Given the description of an element on the screen output the (x, y) to click on. 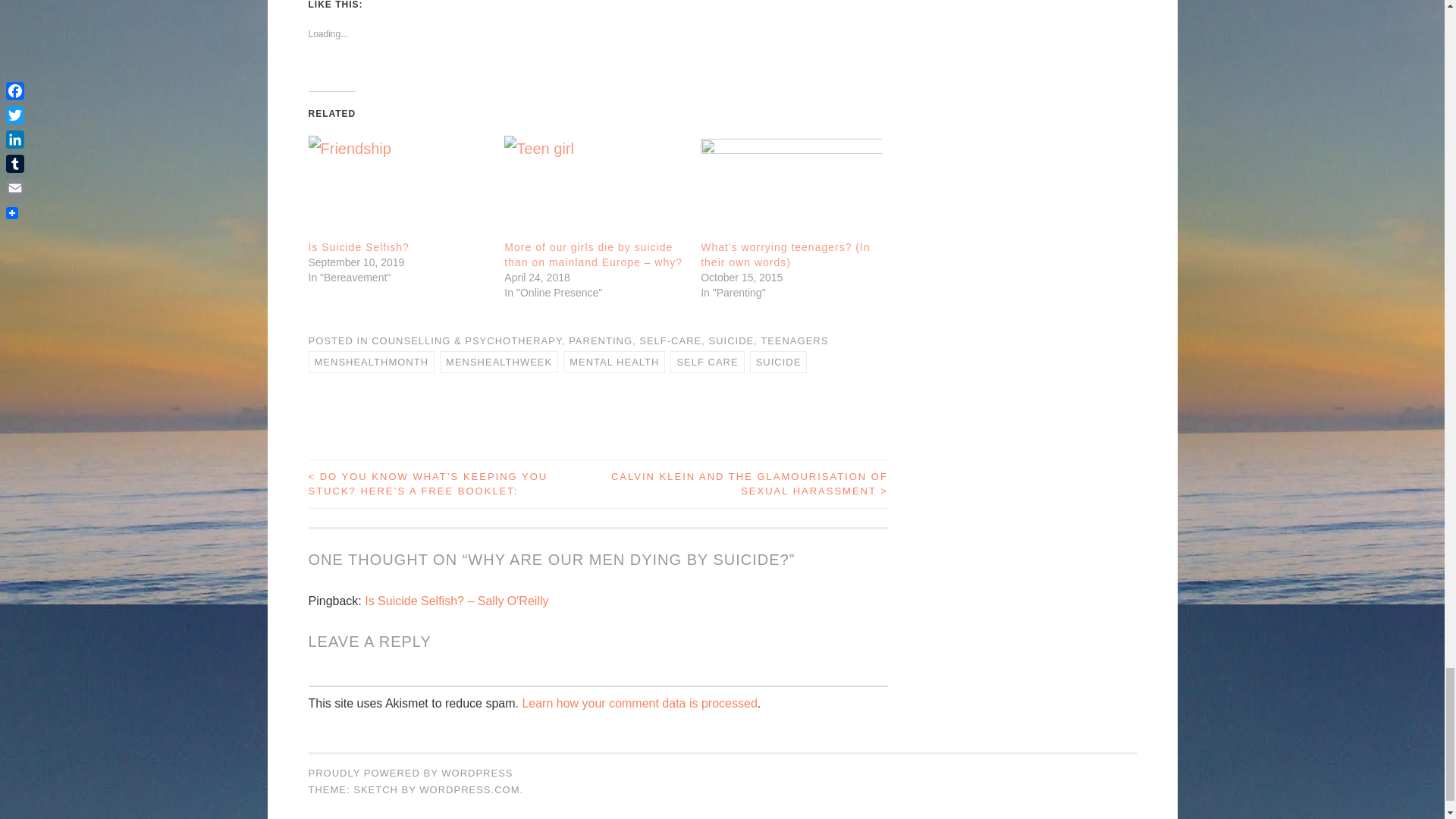
Is Suicide Selfish? (358, 246)
Is Suicide Selfish? (398, 187)
